Given the description of an element on the screen output the (x, y) to click on. 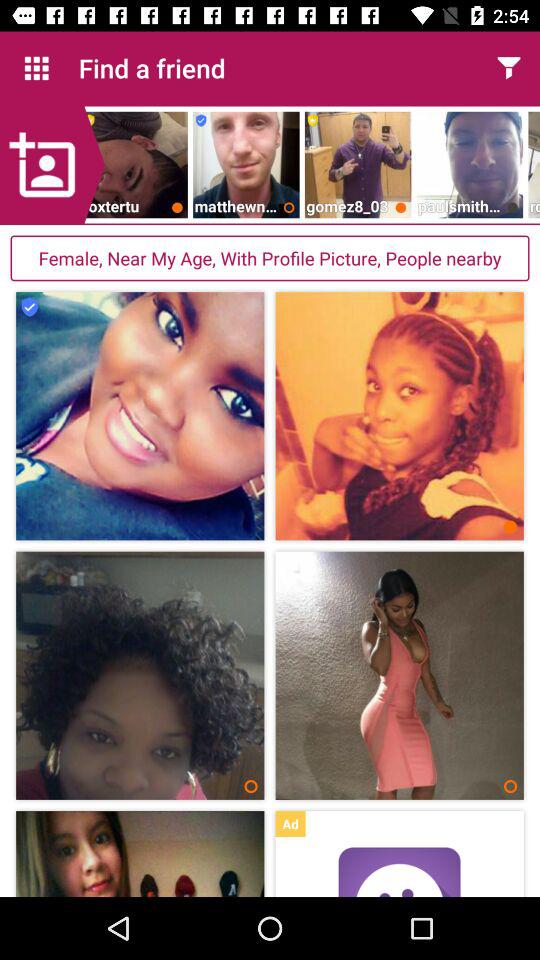
select icon to the left of the find a friend icon (36, 68)
